Given the description of an element on the screen output the (x, y) to click on. 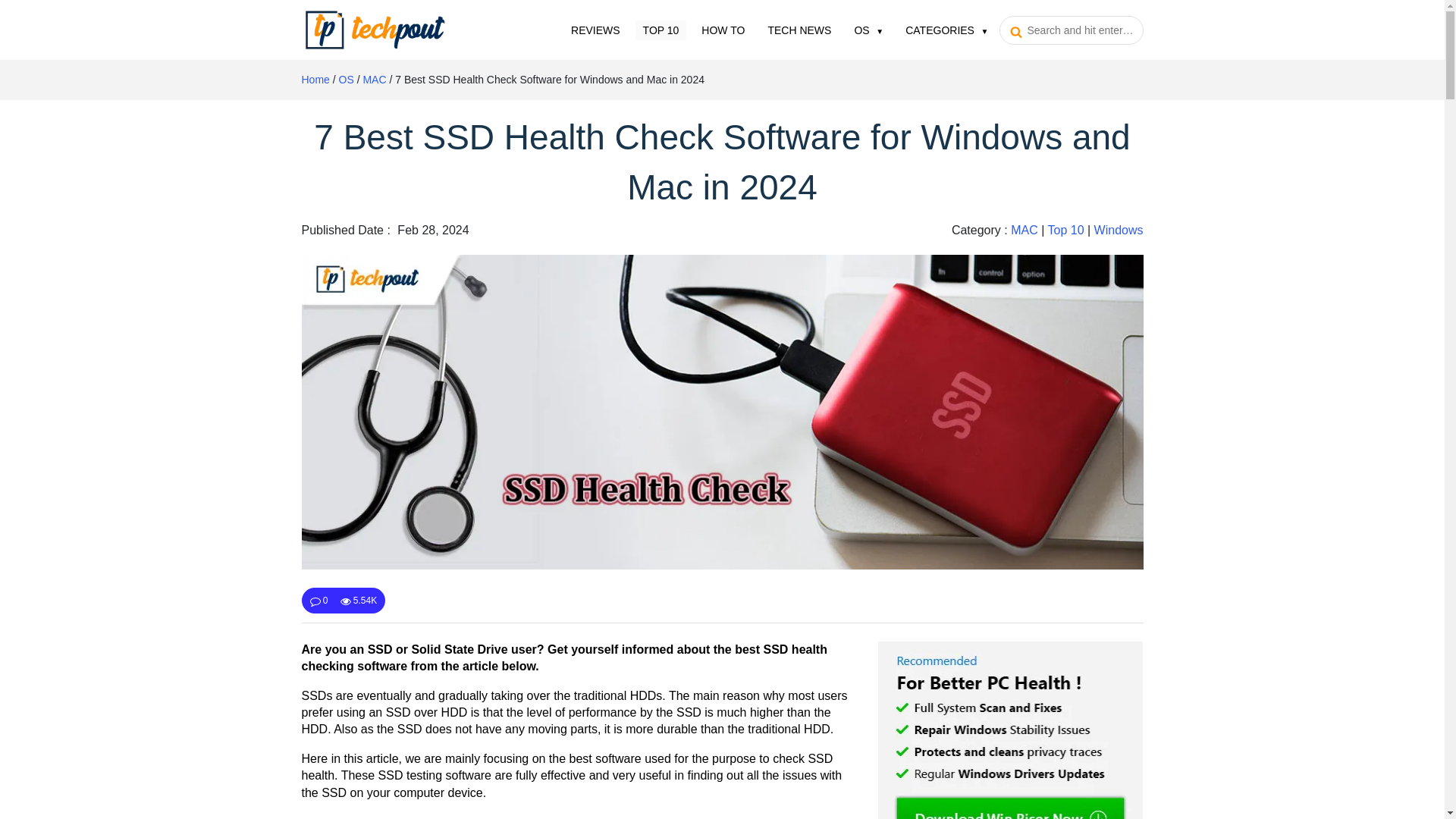
More Categories (946, 29)
Tech News (799, 29)
Top 10 (660, 29)
MAC (373, 79)
Windows (1118, 229)
REVIEWS (595, 29)
How To (723, 29)
CATEGORIES (946, 29)
OS (346, 79)
Reviews (595, 29)
